Given the description of an element on the screen output the (x, y) to click on. 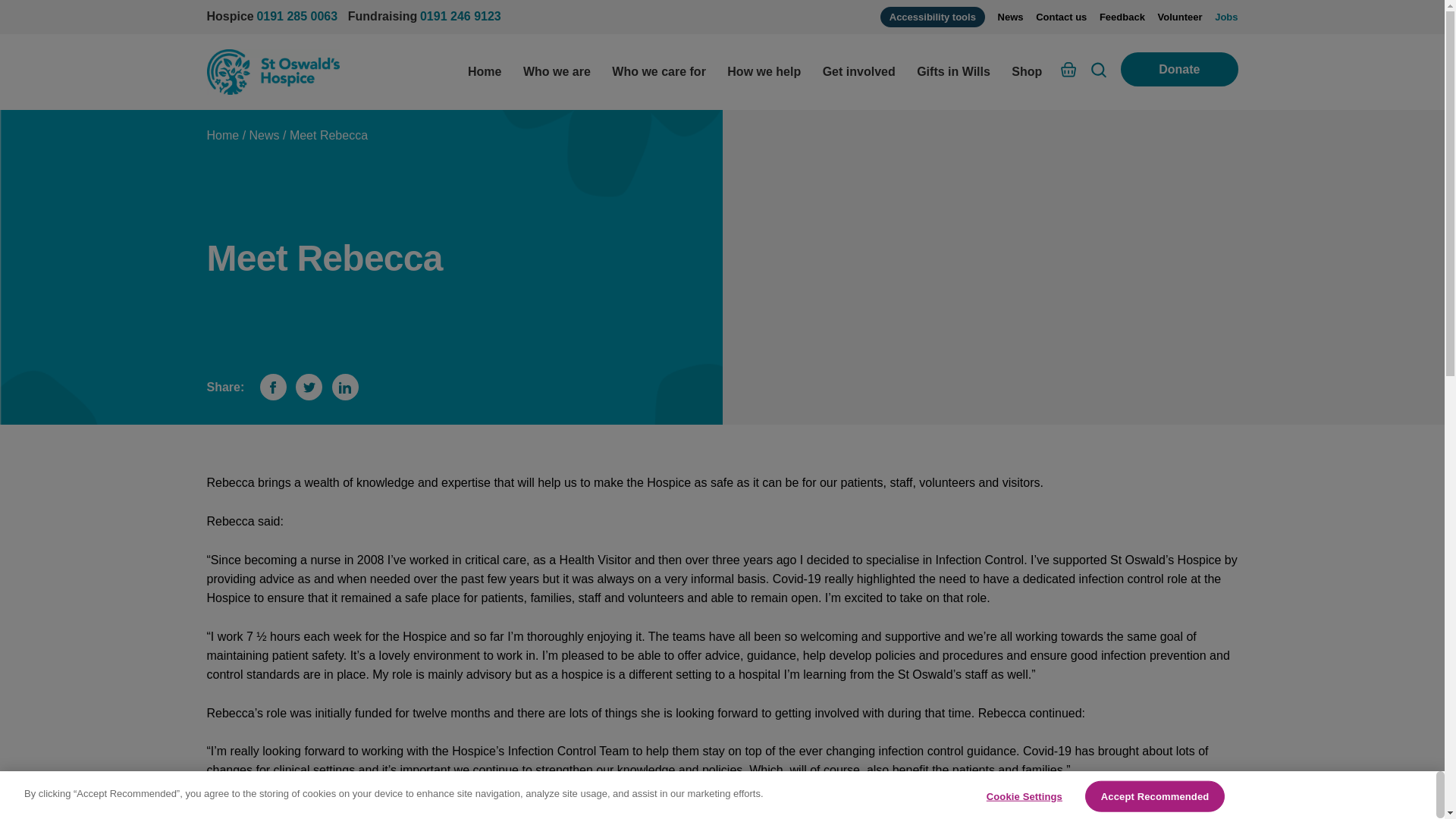
News (1010, 16)
Contact us (1060, 16)
0191 246 9123 (460, 15)
0191 285 0063 (296, 15)
Jobs (1225, 16)
Accessibility tools (932, 16)
Feedback (1121, 16)
Who we are (556, 71)
Volunteer (1179, 16)
Donate (1179, 69)
Home (483, 71)
